Given the description of an element on the screen output the (x, y) to click on. 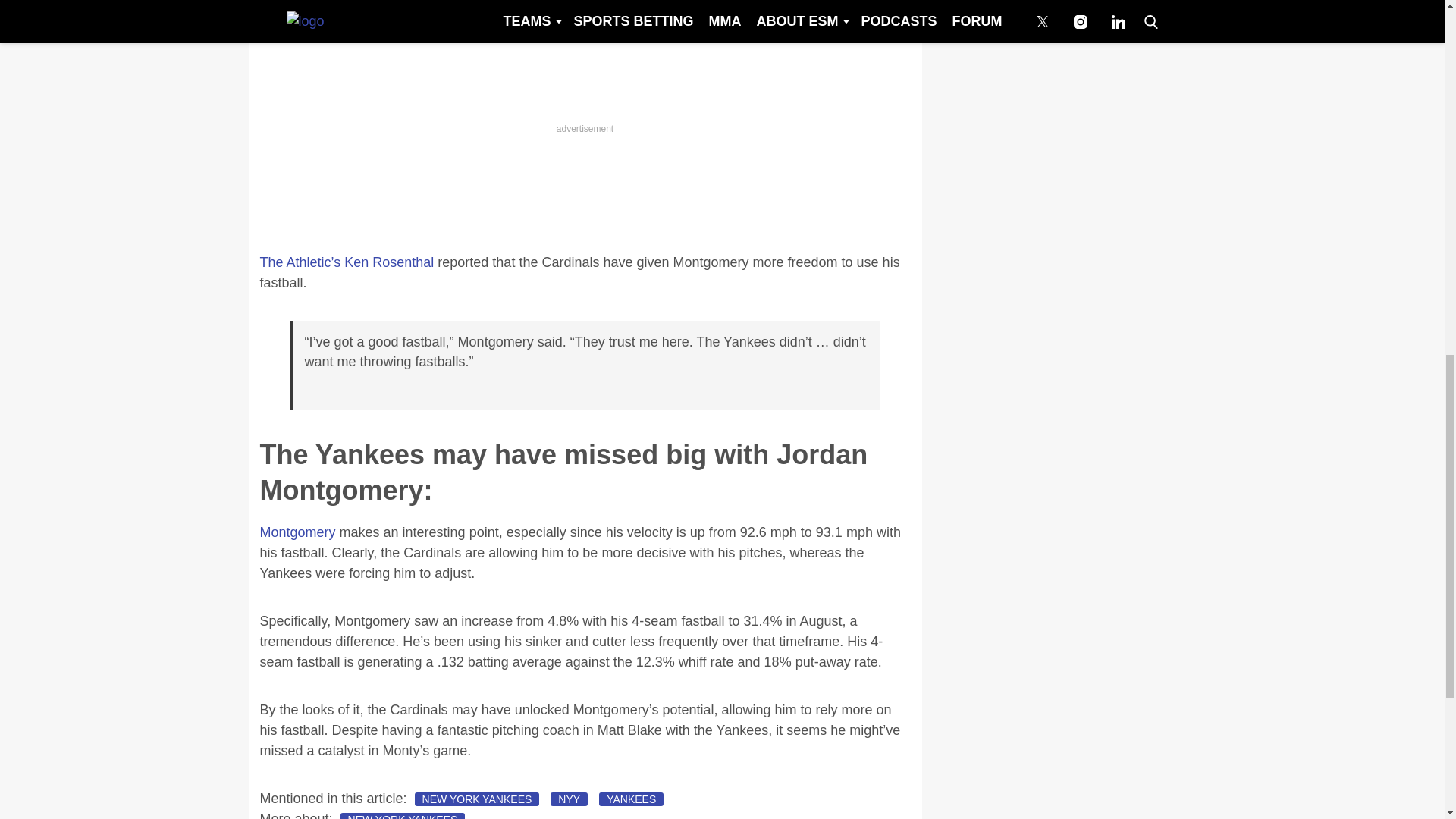
Montgomery (296, 531)
NYY (569, 798)
YANKEES (630, 798)
NEW YORK YANKEES (477, 798)
NEW YORK YANKEES (402, 816)
